Given the description of an element on the screen output the (x, y) to click on. 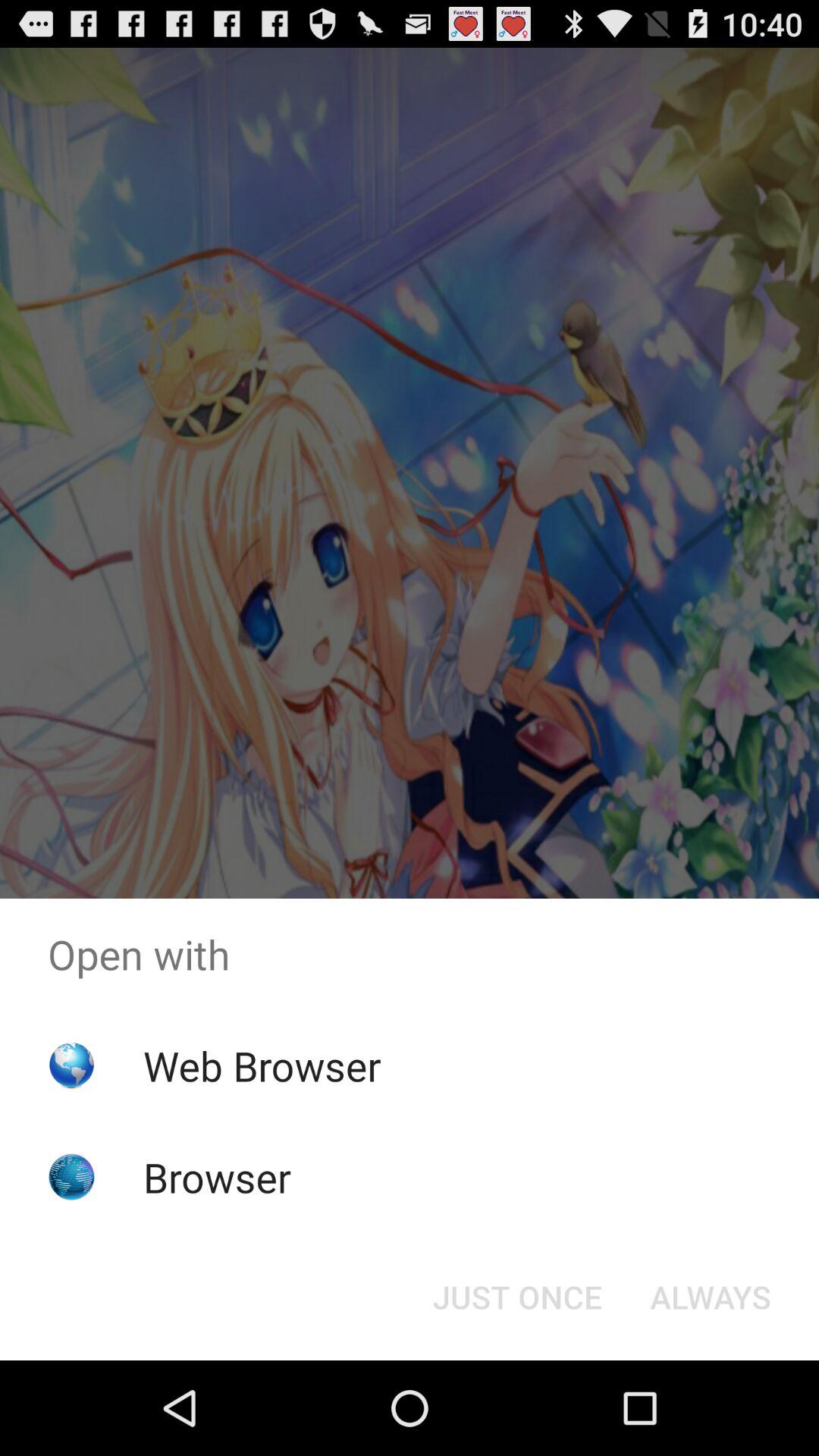
turn off button at the bottom (517, 1296)
